Given the description of an element on the screen output the (x, y) to click on. 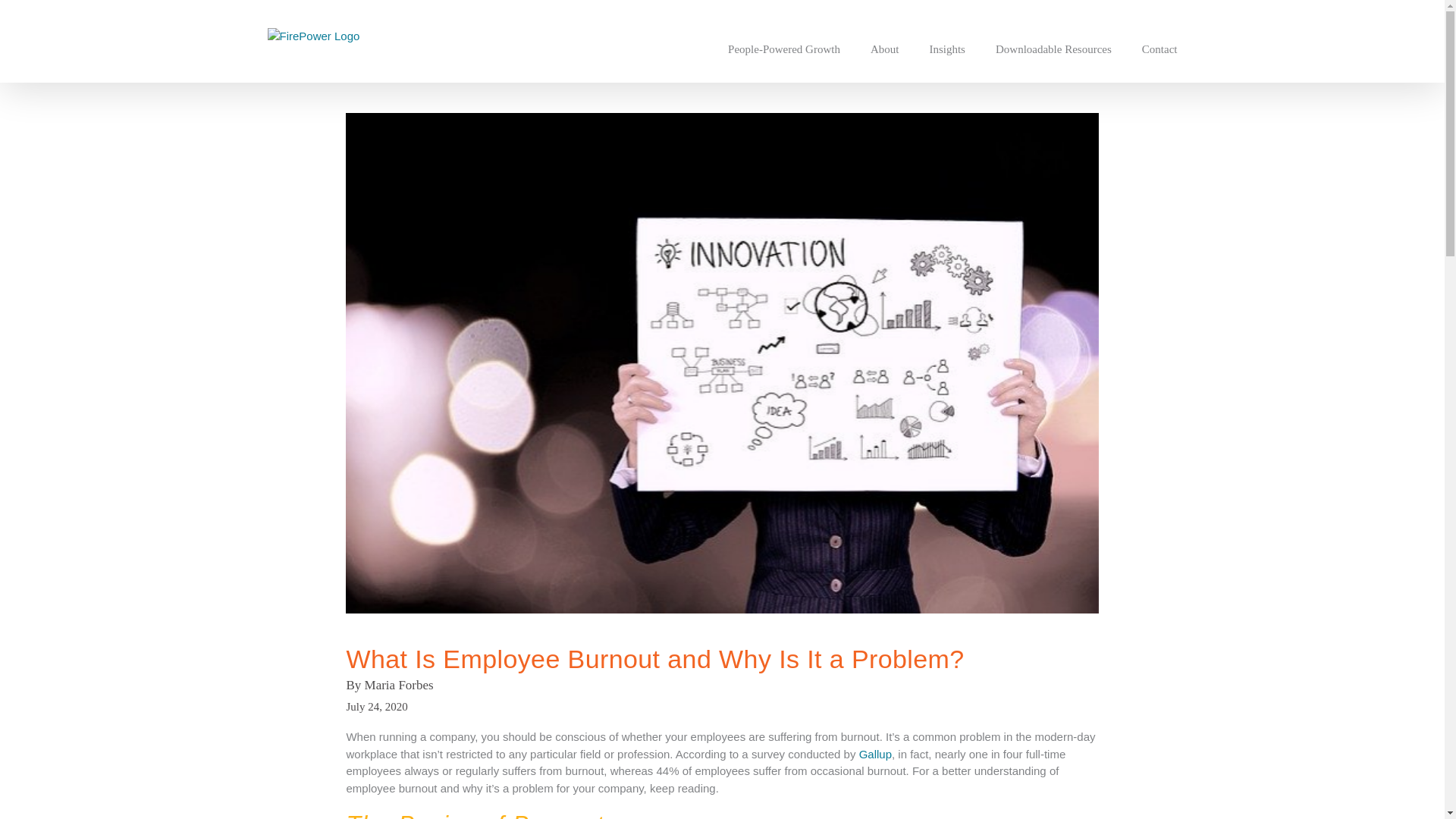
Downloadable Resources (1053, 48)
Gallup (875, 753)
People-Powered Growth (784, 48)
